Given the description of an element on the screen output the (x, y) to click on. 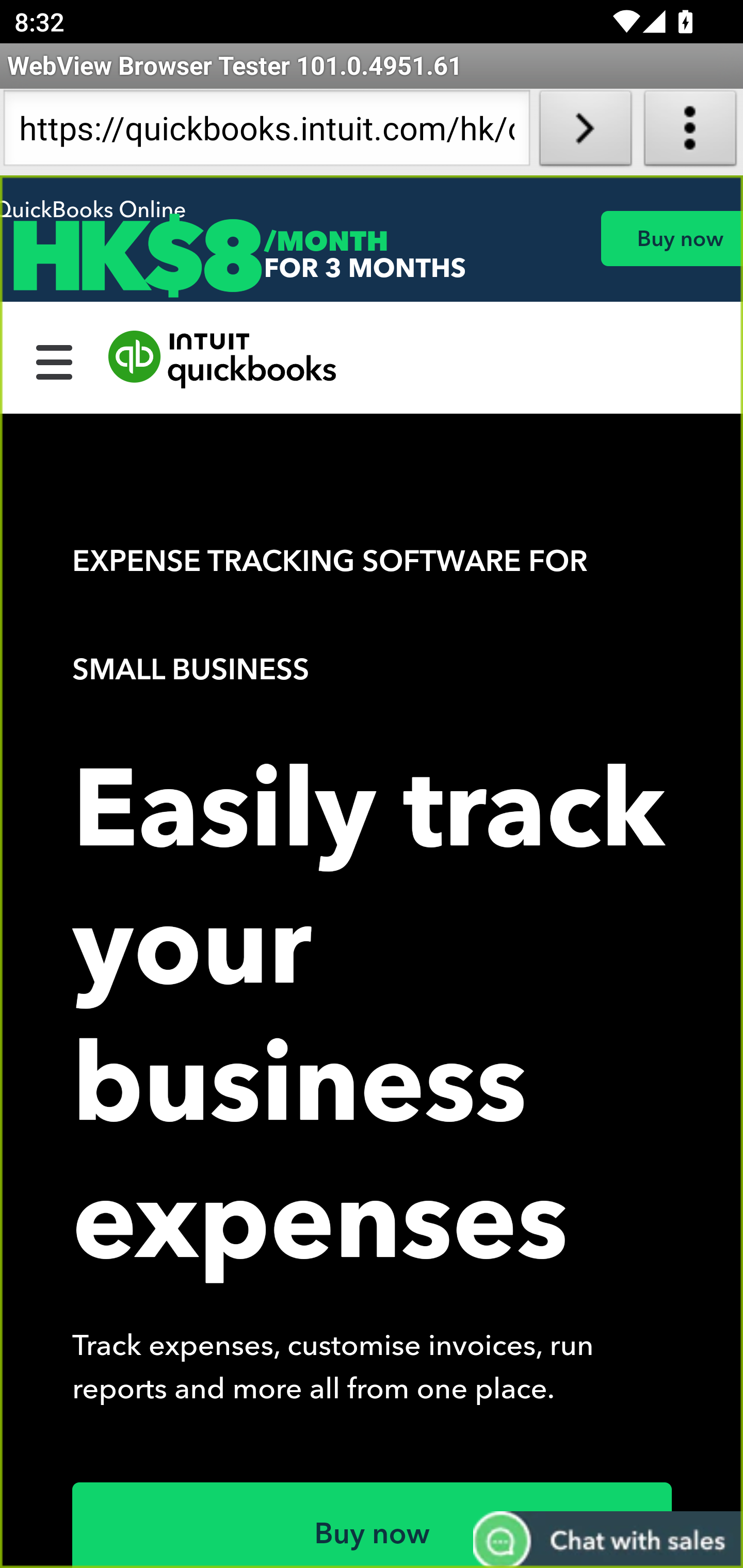
Load URL (585, 132)
About WebView (690, 132)
Buy now (671, 238)
quickbooks-mobile-burger (54, 359)
quickbooks (222, 359)
Buy now (372, 1524)
